Given the description of an element on the screen output the (x, y) to click on. 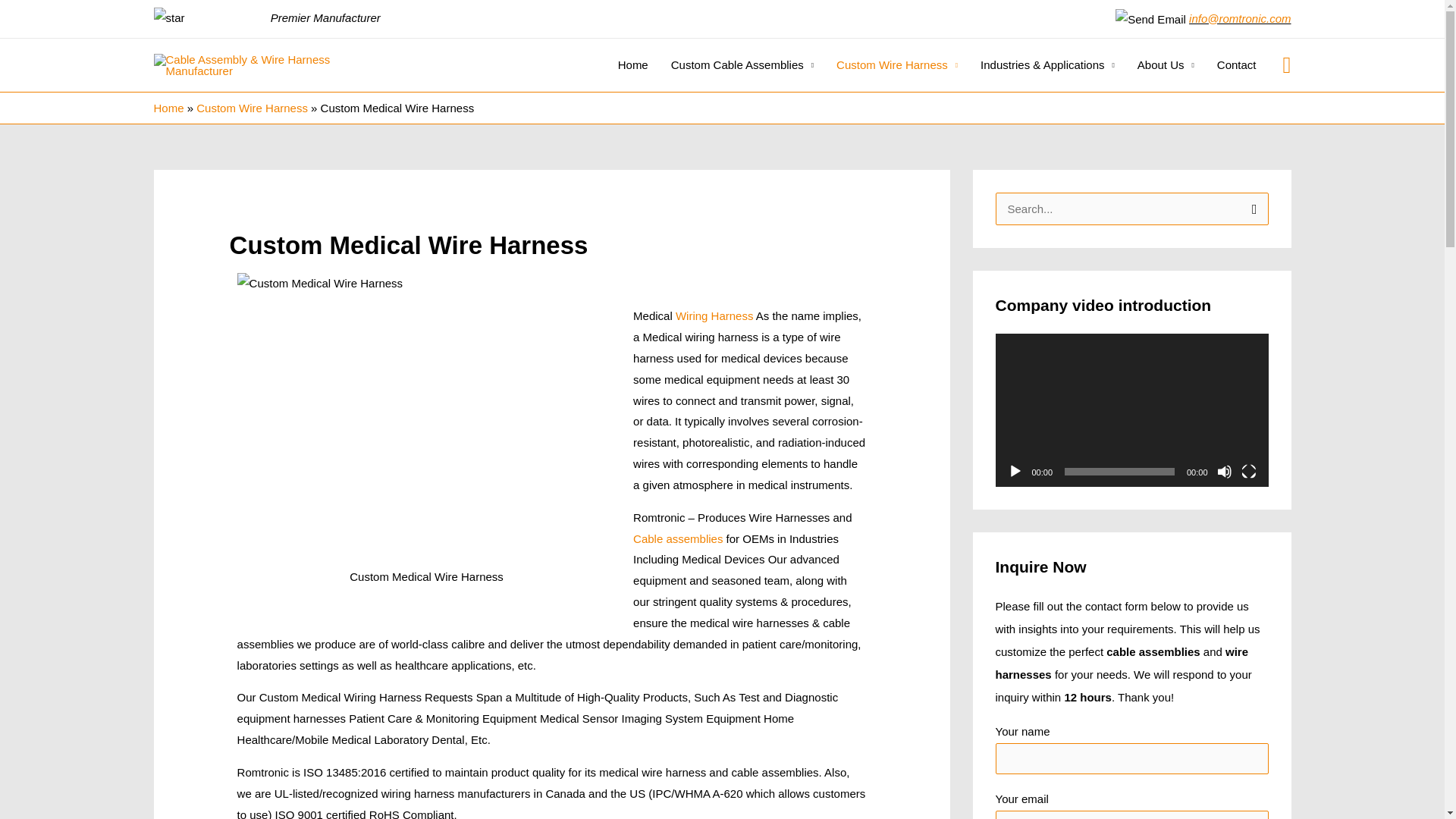
Search (1251, 207)
Custom Cable Assemblies (742, 64)
About Us (1165, 64)
Play (1014, 471)
Home (633, 64)
Mute (1223, 471)
Search (1251, 207)
Custom Wire Harness (897, 64)
Fullscreen (1247, 471)
